Given the description of an element on the screen output the (x, y) to click on. 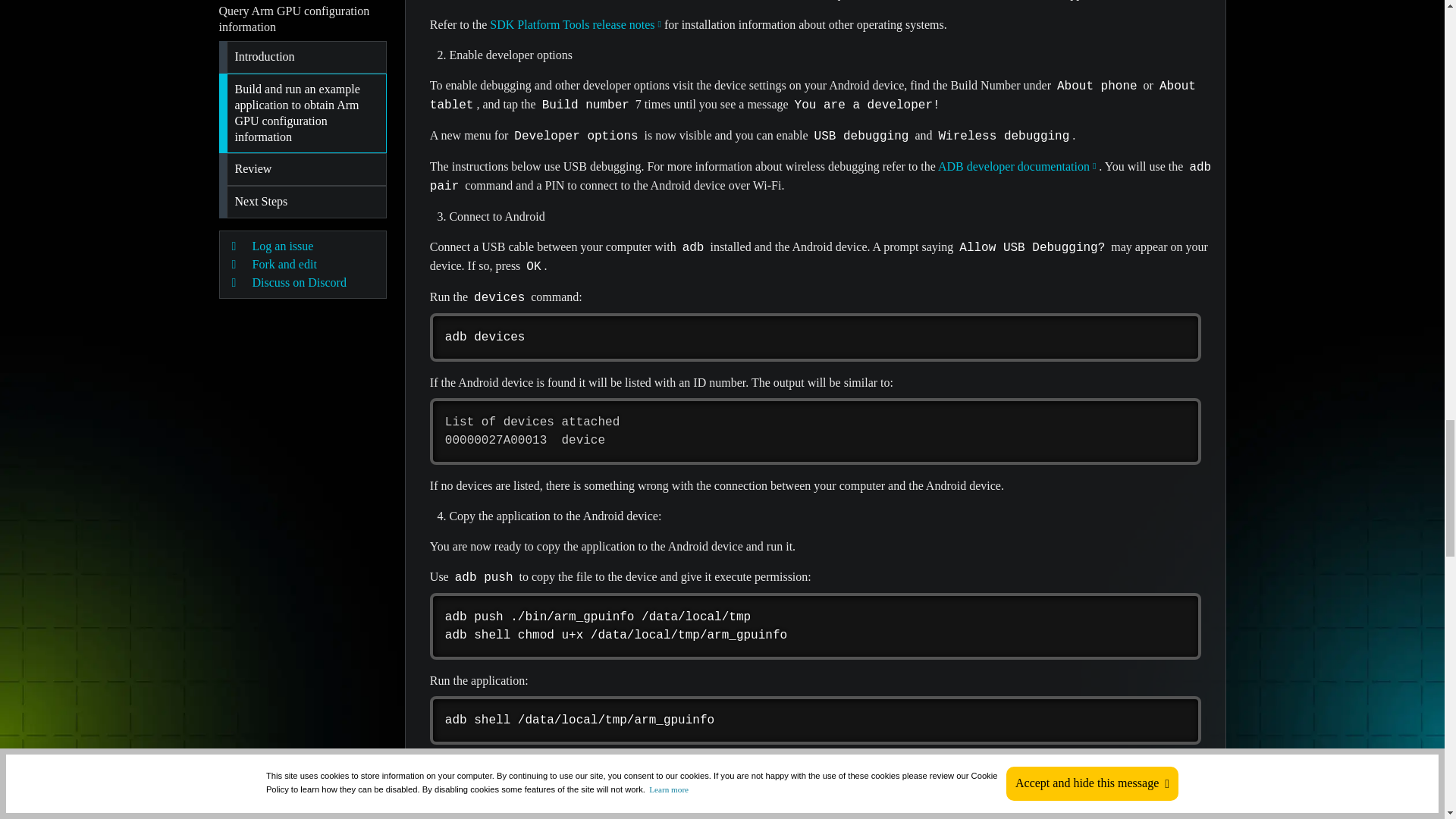
ADB developer documentation (1018, 165)
SDK Platform Tools release notes (575, 24)
